Given the description of an element on the screen output the (x, y) to click on. 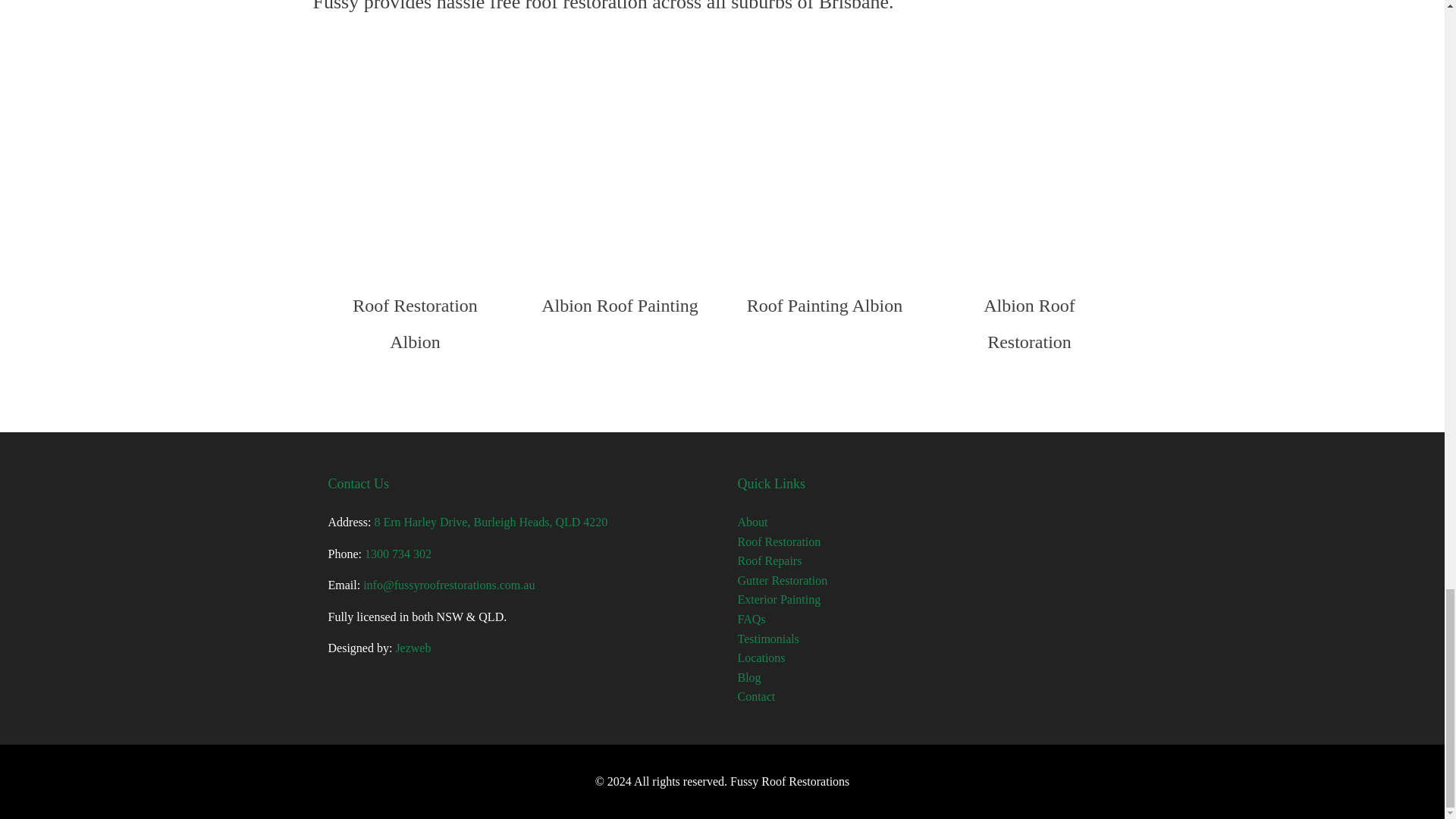
Roof Repairs (769, 560)
Exterior Painting (778, 599)
Gutter Restoration (781, 580)
Roof Restoration (778, 541)
Jezweb (412, 647)
8 Ern Harley Drive, Burleigh Heads, QLD 4220 (490, 521)
1300 734 302 (397, 553)
Testimonials (767, 638)
Contact (755, 696)
FAQs (750, 618)
About (751, 521)
Locations (760, 657)
Blog (748, 676)
